Given the description of an element on the screen output the (x, y) to click on. 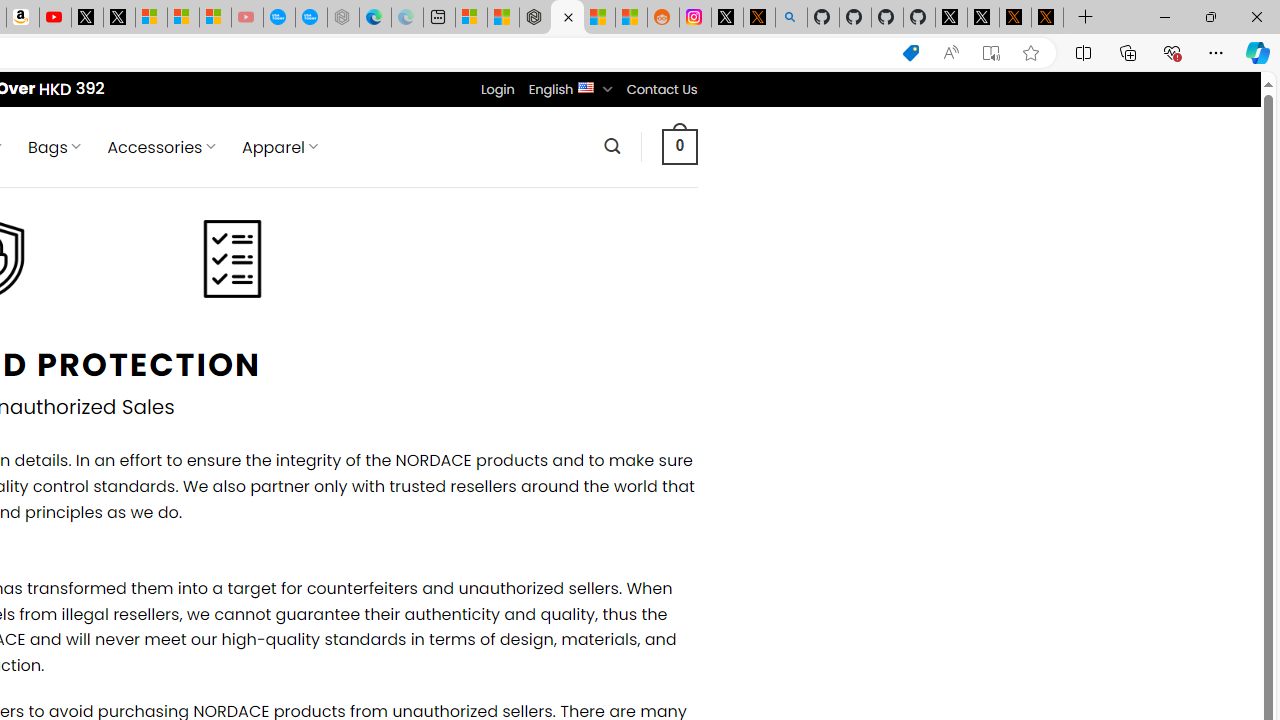
Log in to X / X (727, 17)
Day 1: Arriving in Yemen (surreal to be here) - YouTube (54, 17)
Shanghai, China Weather trends | Microsoft Weather (630, 17)
X Privacy Policy (1047, 17)
The most popular Google 'how to' searches (310, 17)
Nordace - Nordace has arrived Hong Kong - Sleeping (343, 17)
